Given the description of an element on the screen output the (x, y) to click on. 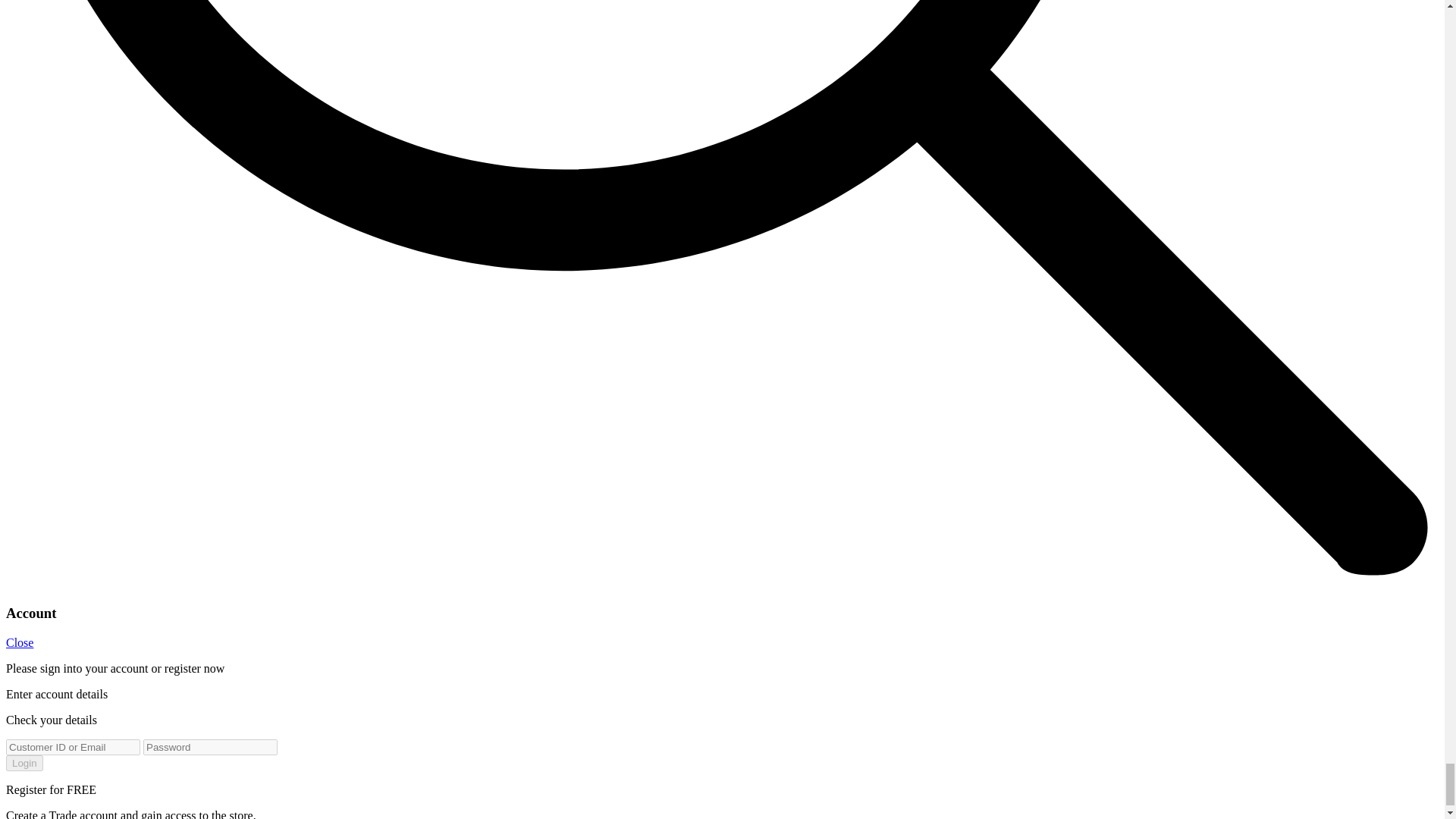
Login (24, 763)
